Given the description of an element on the screen output the (x, y) to click on. 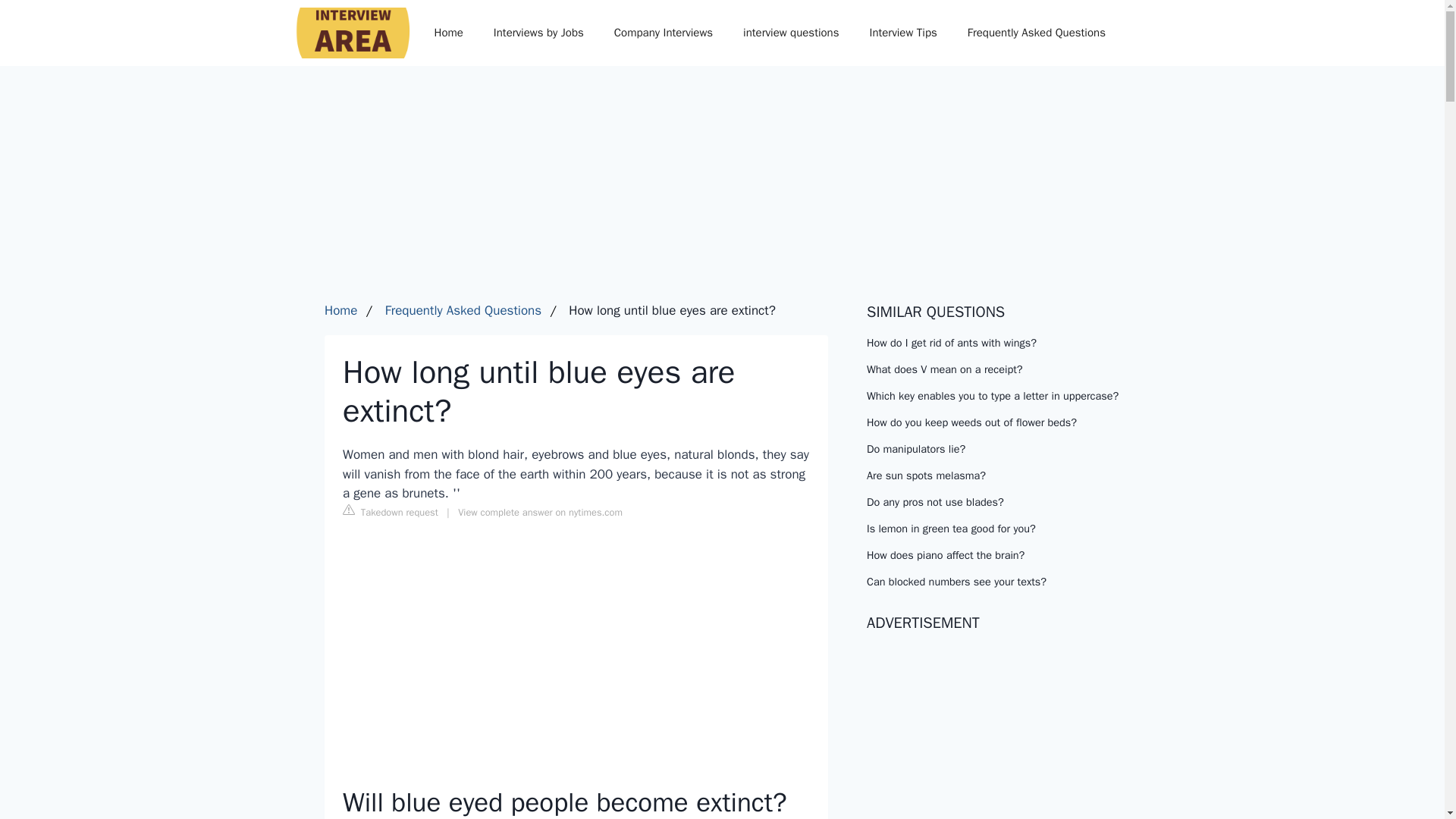
Frequently Asked Questions (463, 310)
interview questions (790, 32)
Takedown request (390, 511)
Interview Area (342, 32)
Interviews by Jobs (538, 32)
Interview Tips (902, 32)
Home (448, 32)
Interview Area (342, 31)
Company Interviews (663, 32)
Frequently Asked Questions (1036, 32)
Home (340, 310)
View complete answer on nytimes.com (540, 512)
